Given the description of an element on the screen output the (x, y) to click on. 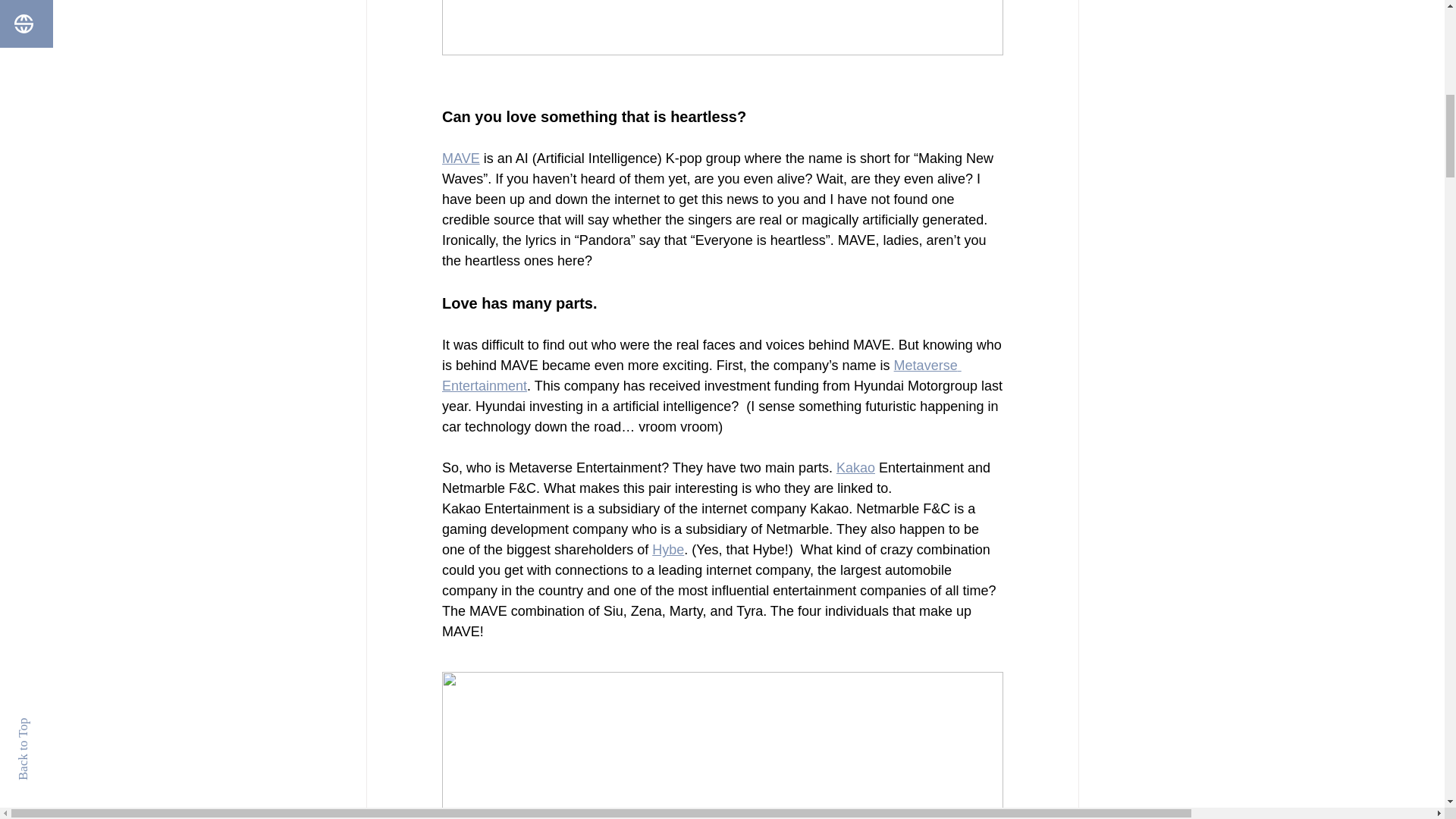
MAVE (460, 158)
Metaverse Entertainment (700, 375)
Hybe (668, 549)
Kakao (855, 467)
